Given the description of an element on the screen output the (x, y) to click on. 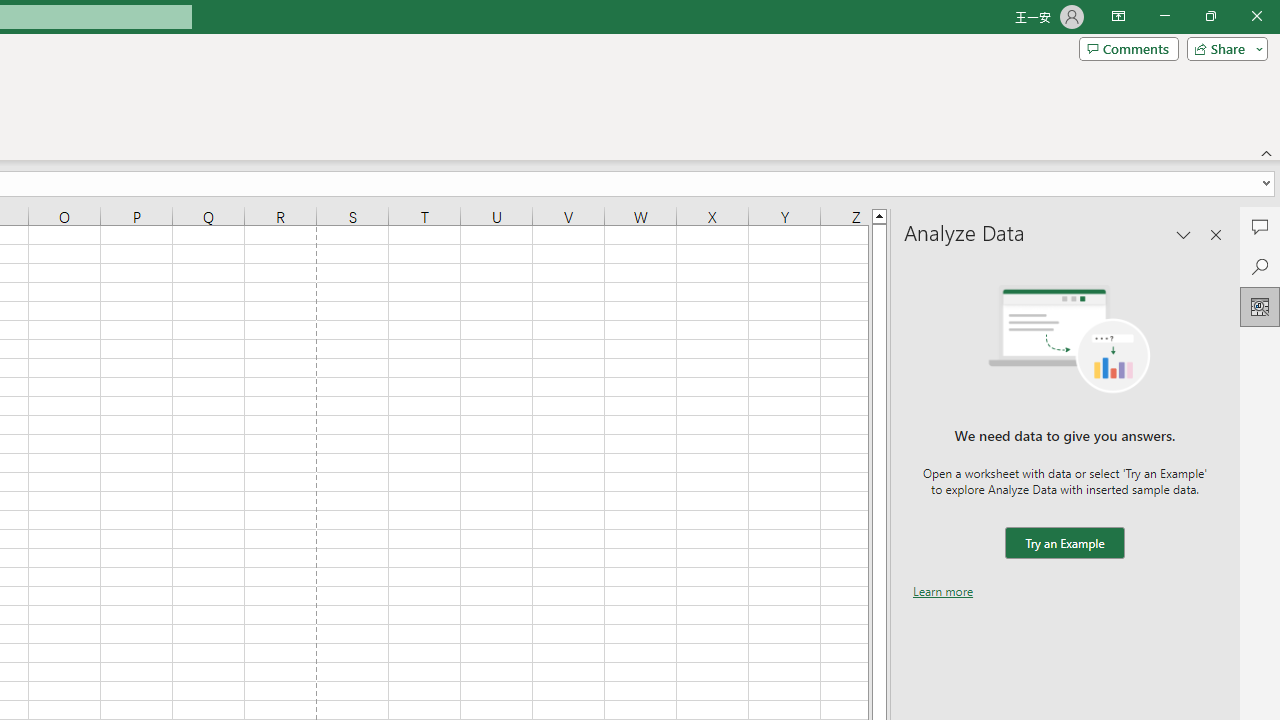
Restore Down (1210, 16)
